Given the description of an element on the screen output the (x, y) to click on. 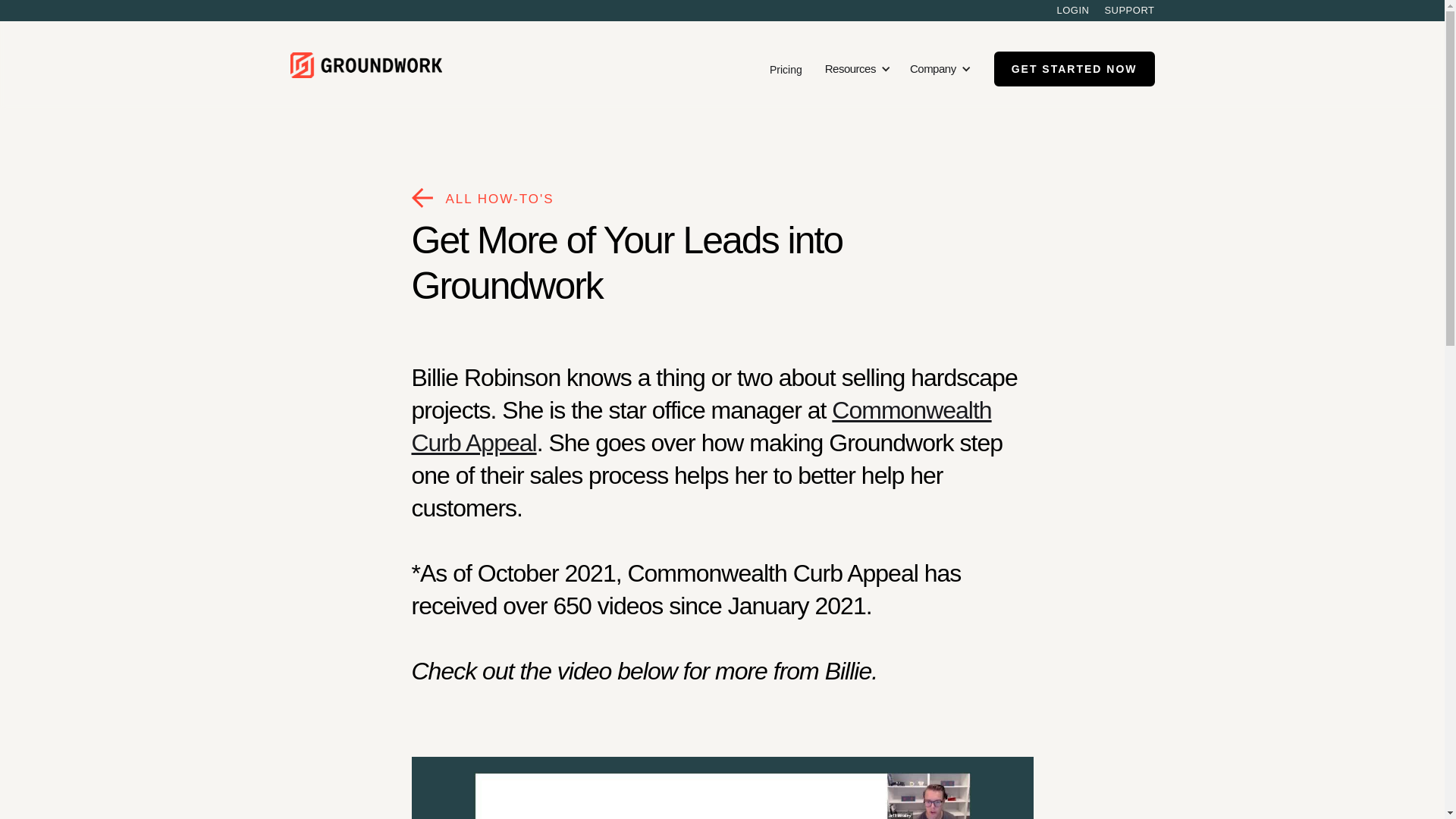
SUPPORT (1128, 10)
Pricing (785, 68)
GET STARTED NOW (1074, 68)
Commonwealth Curb Appeal (700, 426)
LOGIN (1073, 10)
